Given the description of an element on the screen output the (x, y) to click on. 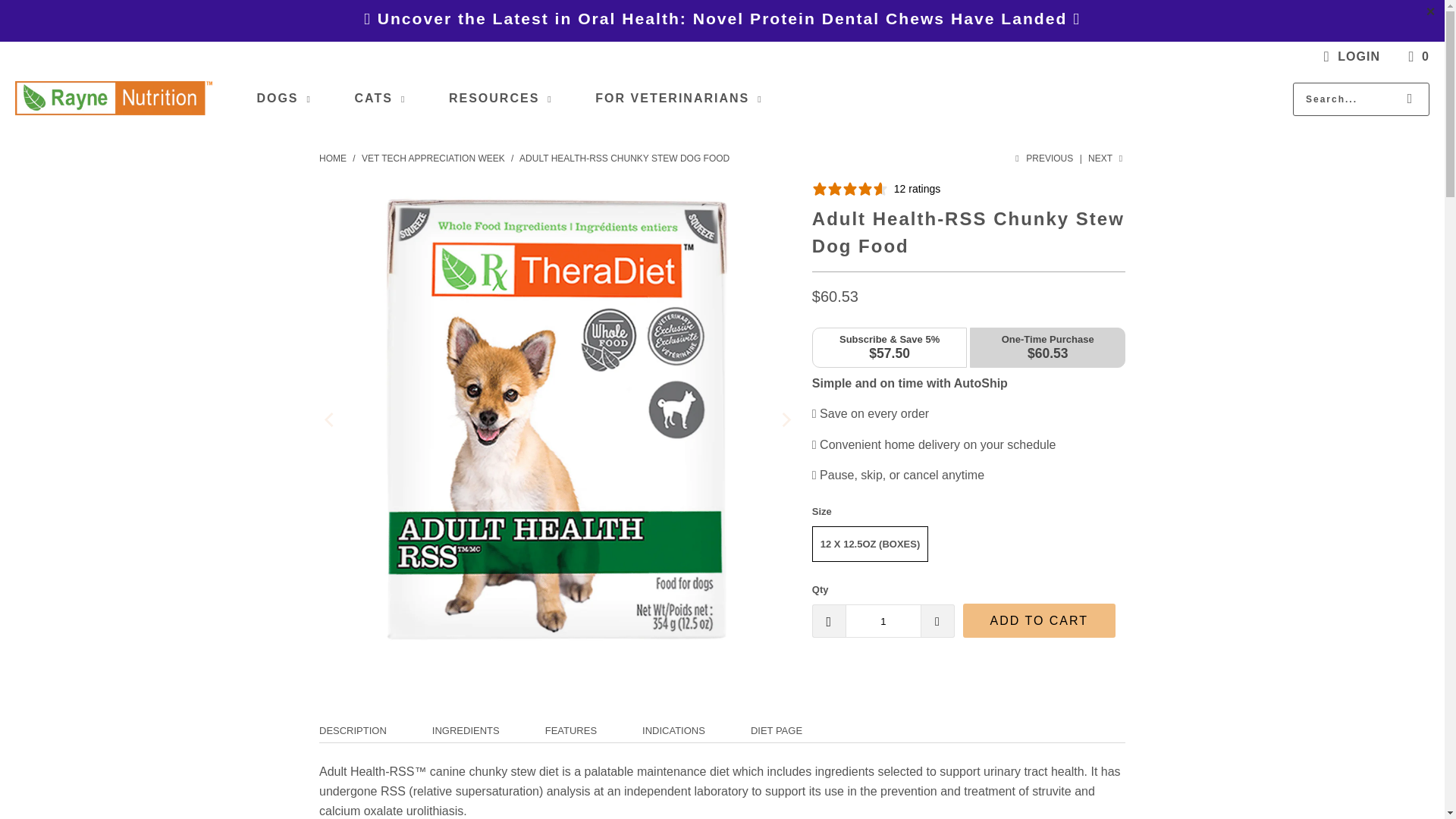
Kangaroo Dental Chews (722, 18)
Next (1106, 158)
My Account  (1348, 56)
Rayne Nutrition (113, 99)
Rayne Nutrition (333, 158)
1 (883, 621)
Previous (1042, 158)
Vet Tech Appreciation Week (433, 158)
